Given the description of an element on the screen output the (x, y) to click on. 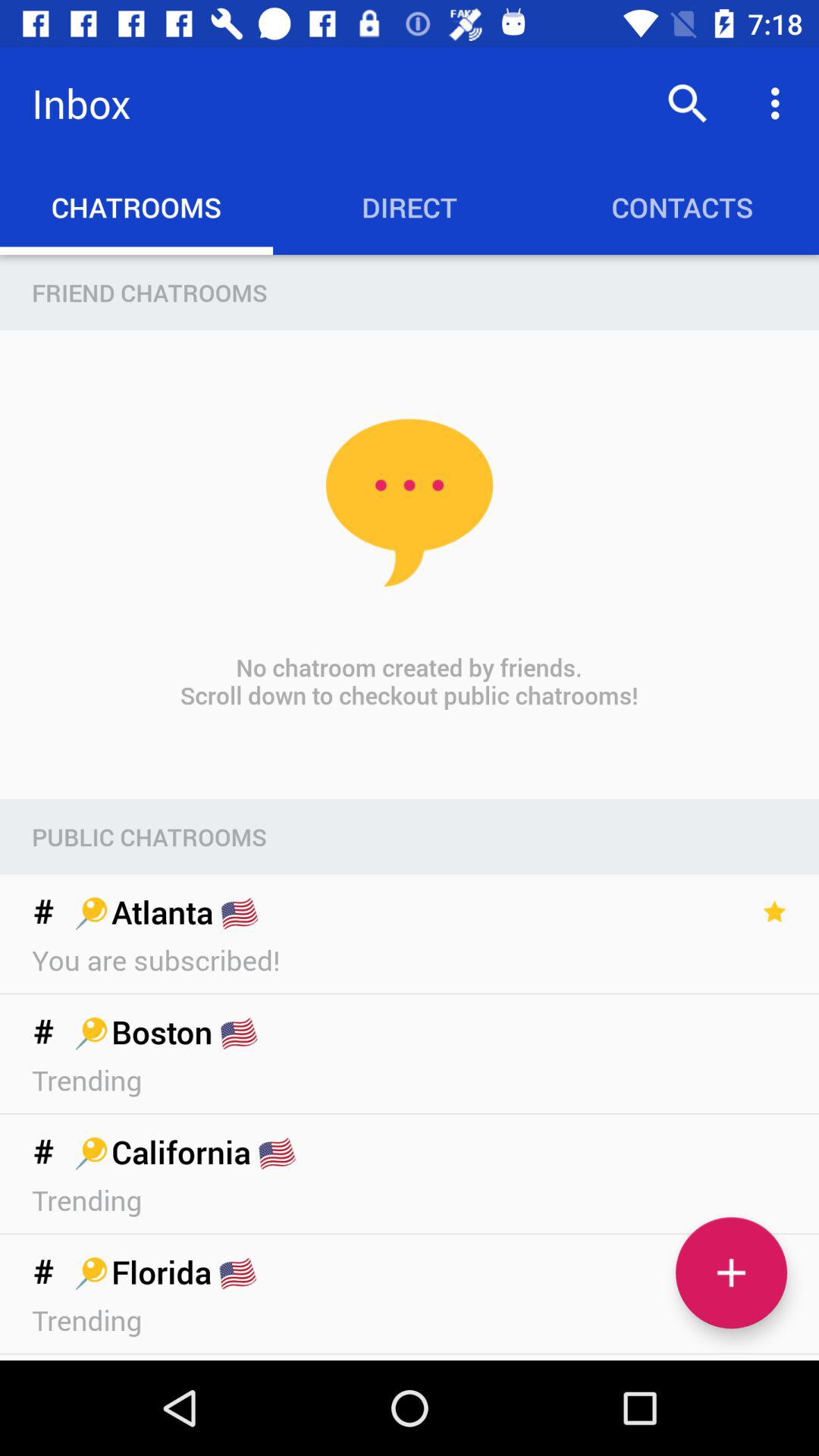
select the icon below the trending item (731, 1272)
